Given the description of an element on the screen output the (x, y) to click on. 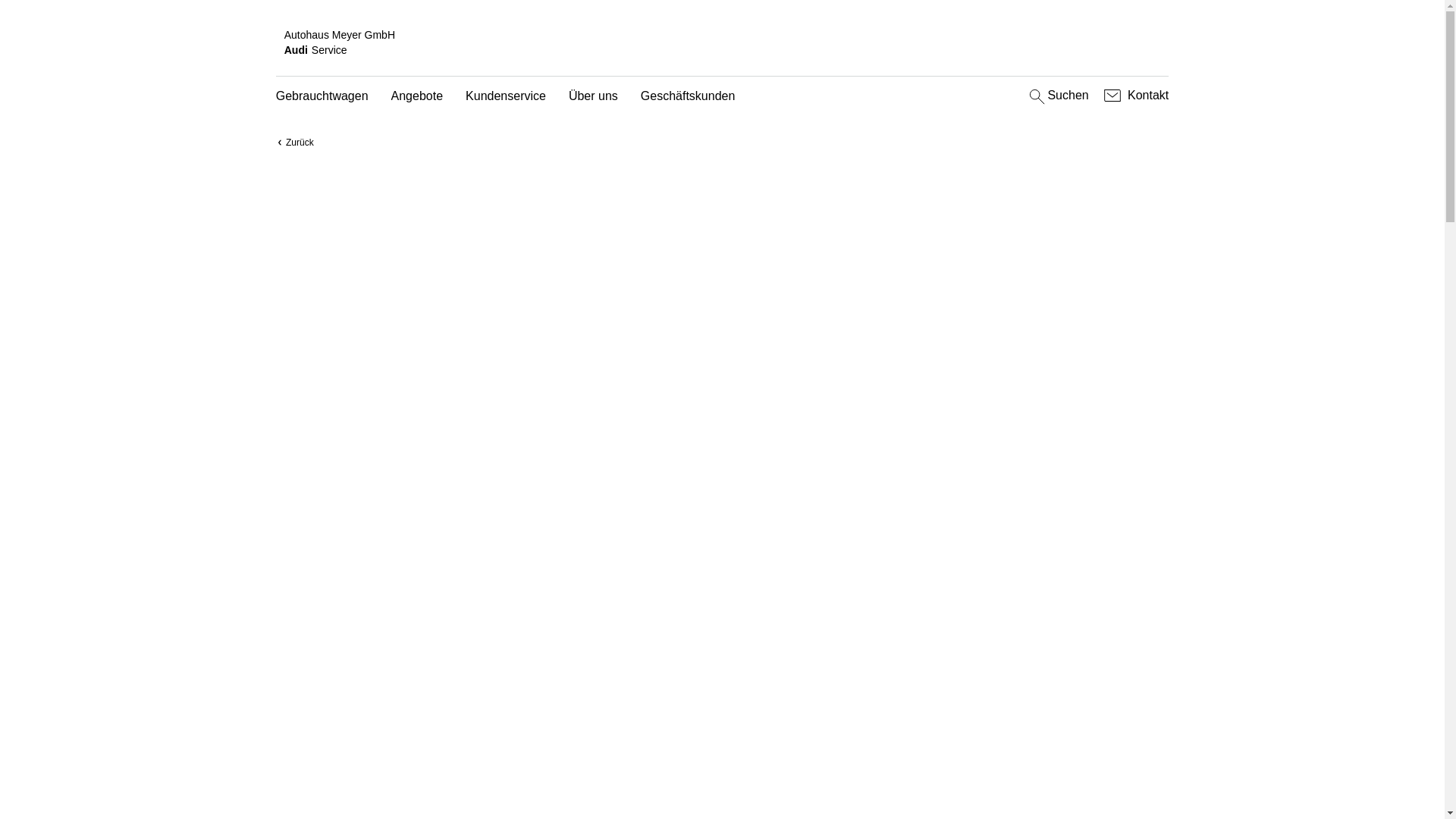
Kundenservice Element type: text (505, 96)
Kontakt Element type: text (1134, 95)
Autohaus Meyer GmbH
AudiService Element type: text (722, 42)
Suchen Element type: text (1056, 95)
Gebrauchtwagen Element type: text (322, 96)
Angebote Element type: text (417, 96)
